Given the description of an element on the screen output the (x, y) to click on. 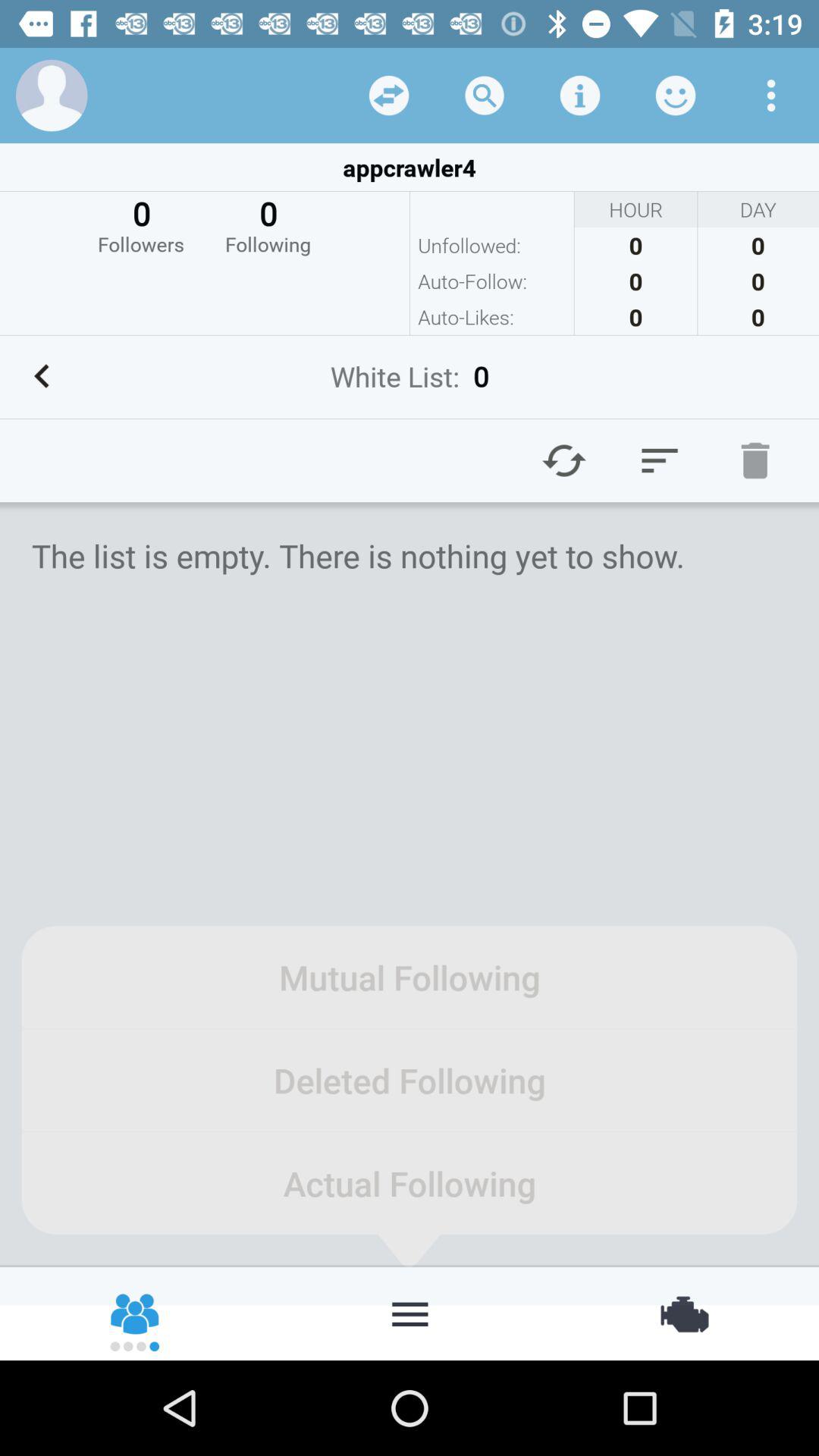
contact (136, 1312)
